Given the description of an element on the screen output the (x, y) to click on. 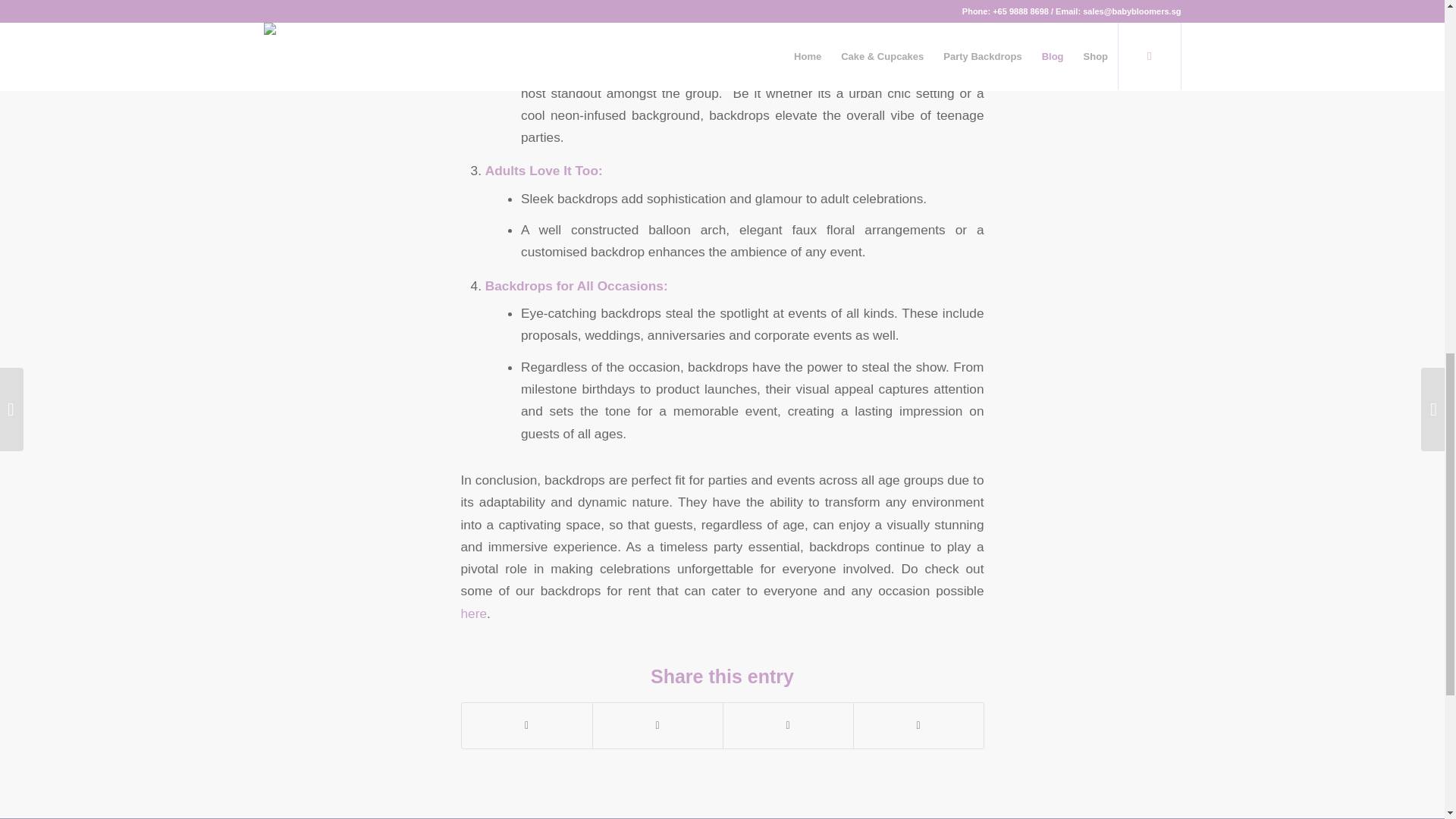
here (474, 613)
